Given the description of an element on the screen output the (x, y) to click on. 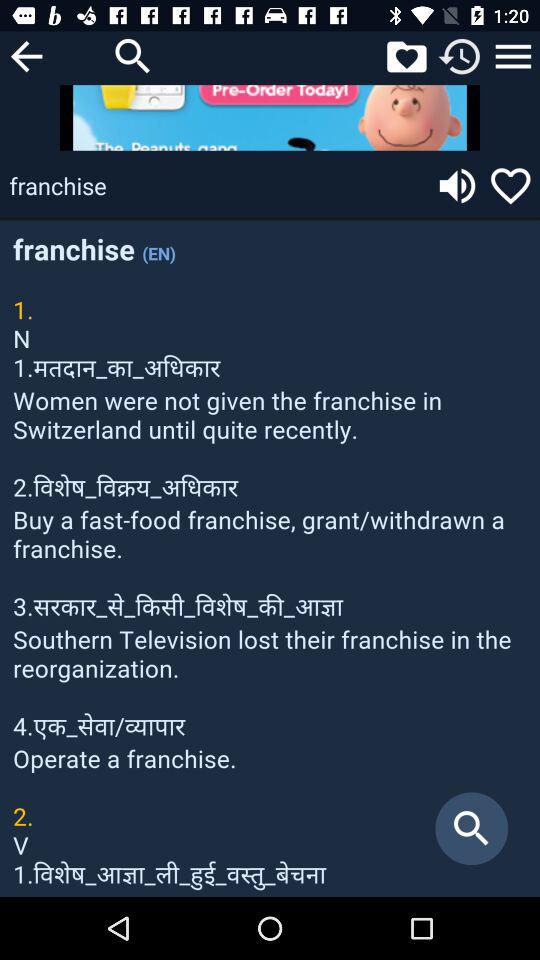
go to volume (457, 185)
